Given the description of an element on the screen output the (x, y) to click on. 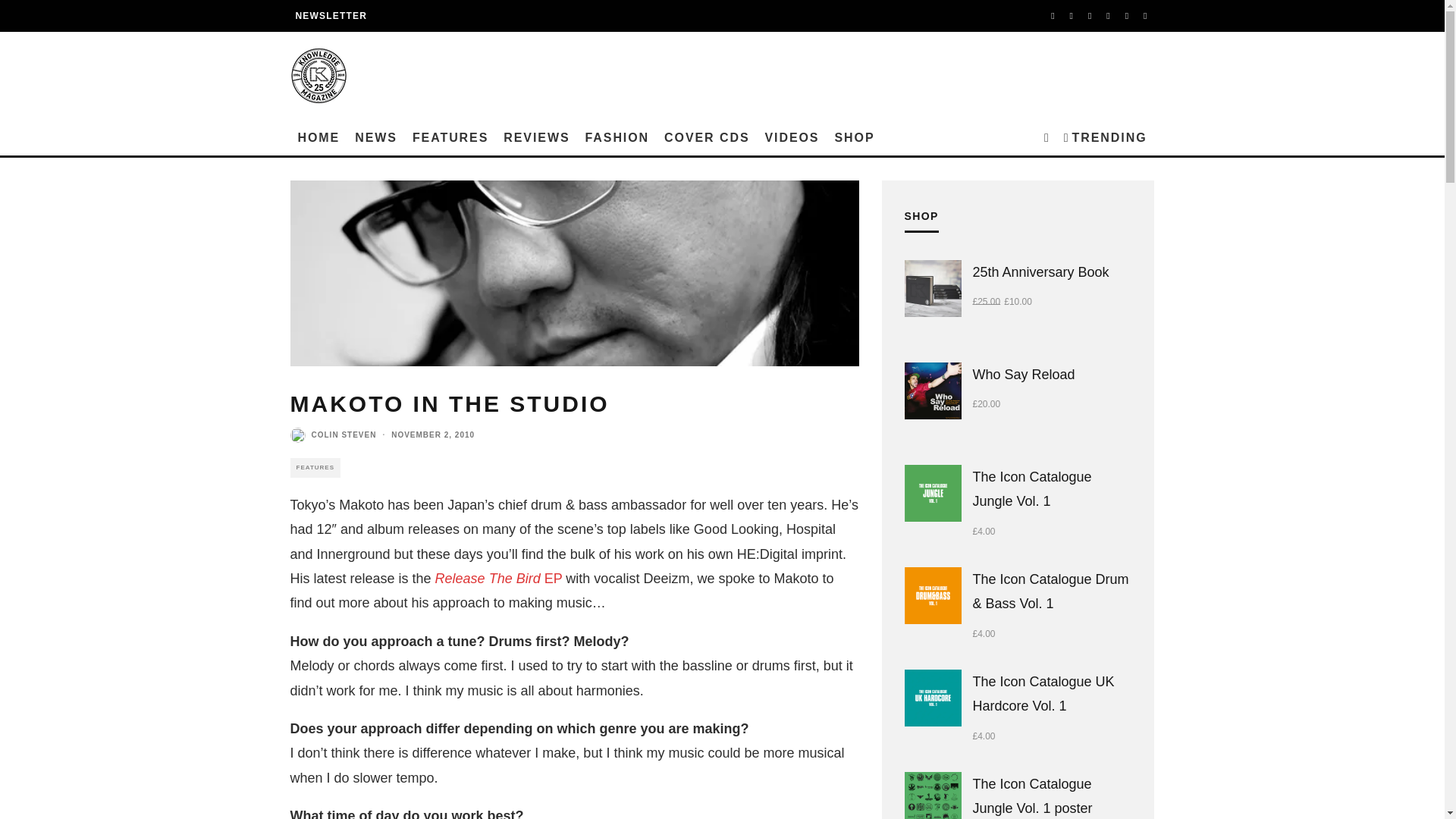
NEWS (375, 137)
FEATURES (450, 137)
HOME (318, 137)
FASHION (618, 137)
NEWSLETTER (330, 15)
REVIEWS (536, 137)
